Given the description of an element on the screen output the (x, y) to click on. 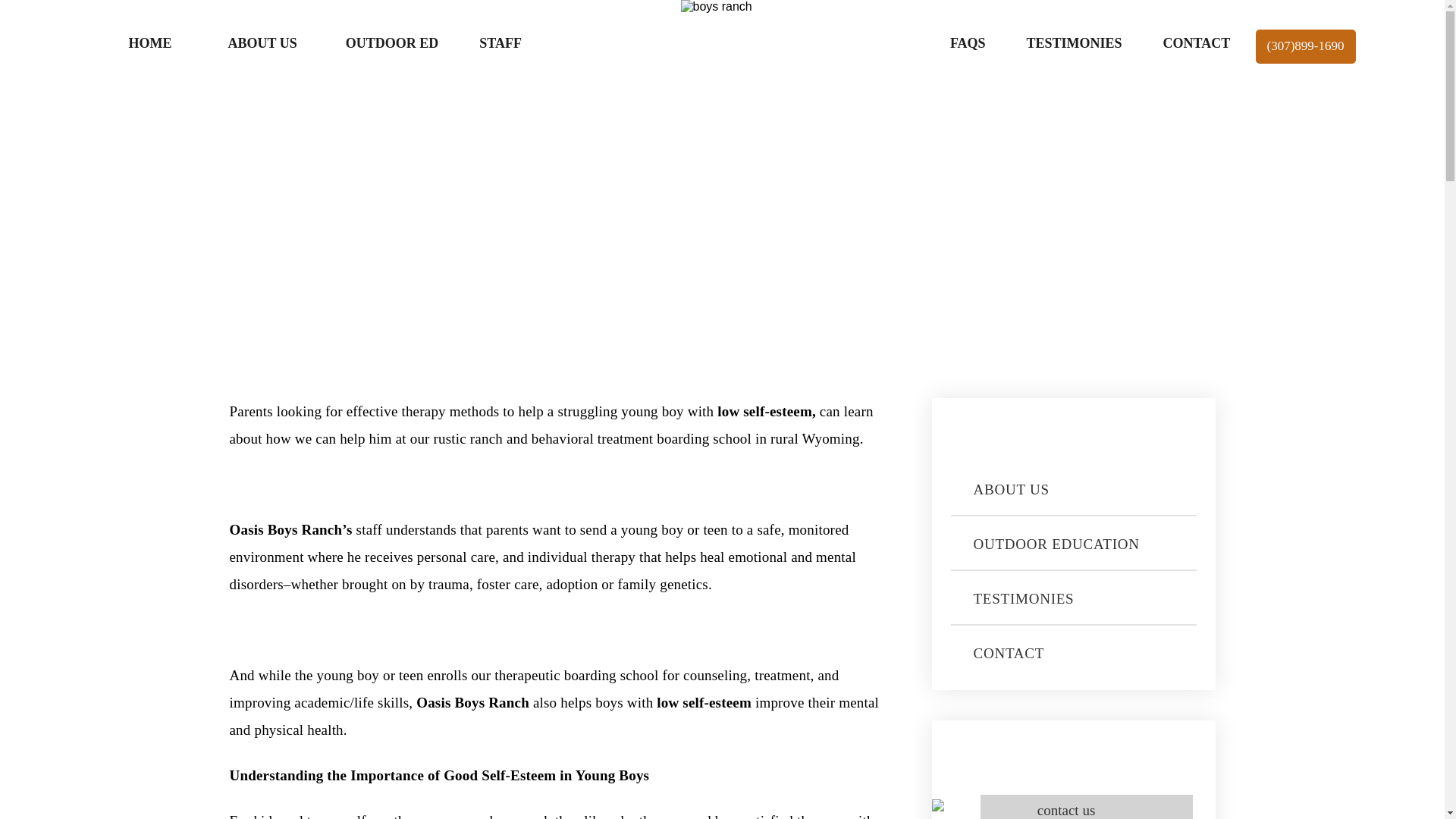
ABOUT US (262, 43)
Boys Ranch (304, 529)
OUTDOOR ED (392, 43)
TESTIMONIES (1074, 43)
CONTACT (1073, 651)
STAFF (499, 43)
therapy (423, 411)
HOME (149, 43)
ABOUT US (1073, 488)
FAQS (968, 43)
